Given the description of an element on the screen output the (x, y) to click on. 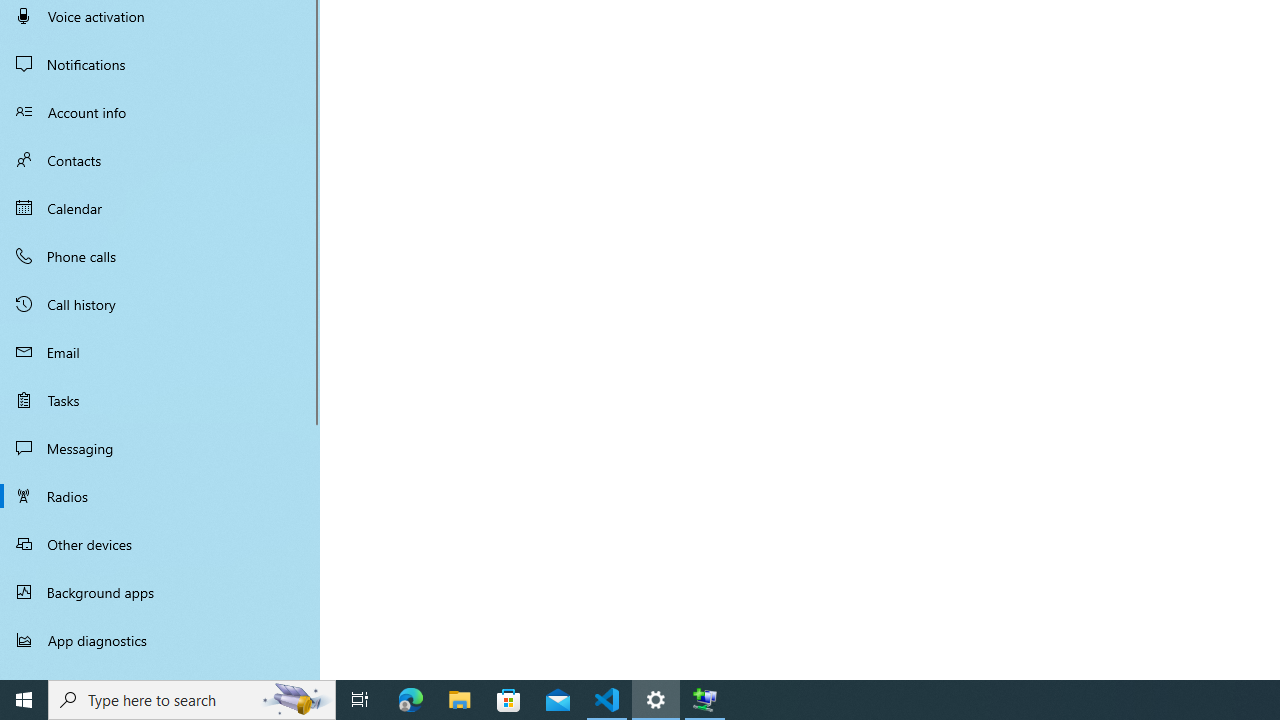
Microsoft Store (509, 699)
Settings - 1 running window (656, 699)
Tasks (160, 399)
Extensible Wizards Host Process - 1 running window (704, 699)
Background apps (160, 592)
Account info (160, 111)
Task View (359, 699)
Radios (160, 495)
Email (160, 351)
Contacts (160, 160)
Messaging (160, 448)
Other devices (160, 543)
Notifications (160, 63)
Call history (160, 304)
